Given the description of an element on the screen output the (x, y) to click on. 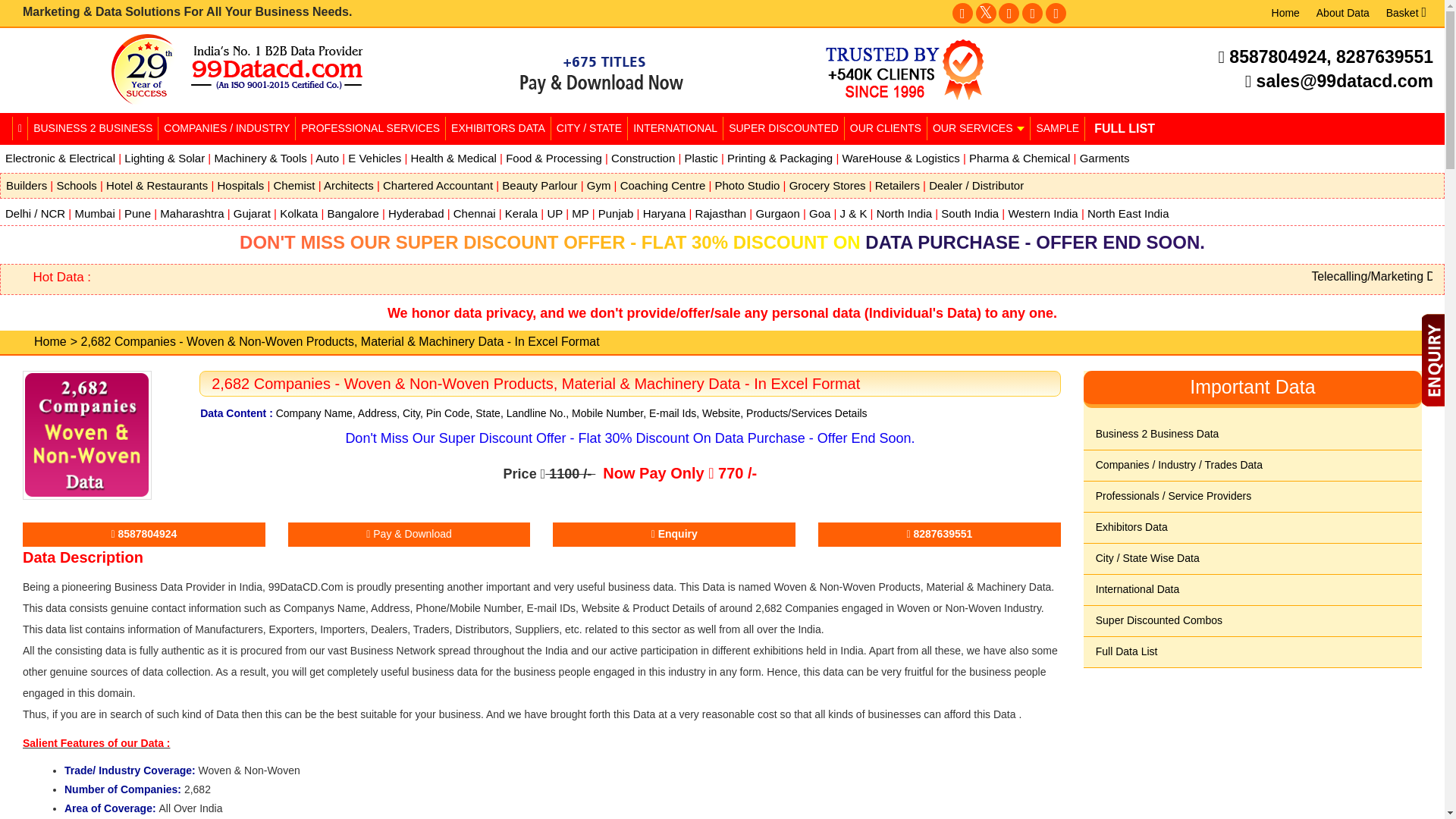
OUR CLIENTS (885, 128)
8587804924 (1277, 56)
SUPER DISCOUNTED (783, 128)
INTERNATIONAL (674, 128)
Home (1285, 12)
EXHIBITORS DATA (497, 128)
Sample Data (1056, 128)
About Data (1342, 12)
FULL LIST (1123, 128)
SAMPLE (1056, 128)
BUSINESS 2 BUSINESS (92, 128)
PROFESSIONAL SERVICES (370, 128)
Full List (1123, 128)
Basket (1405, 12)
OUR SERVICES (977, 128)
